Given the description of an element on the screen output the (x, y) to click on. 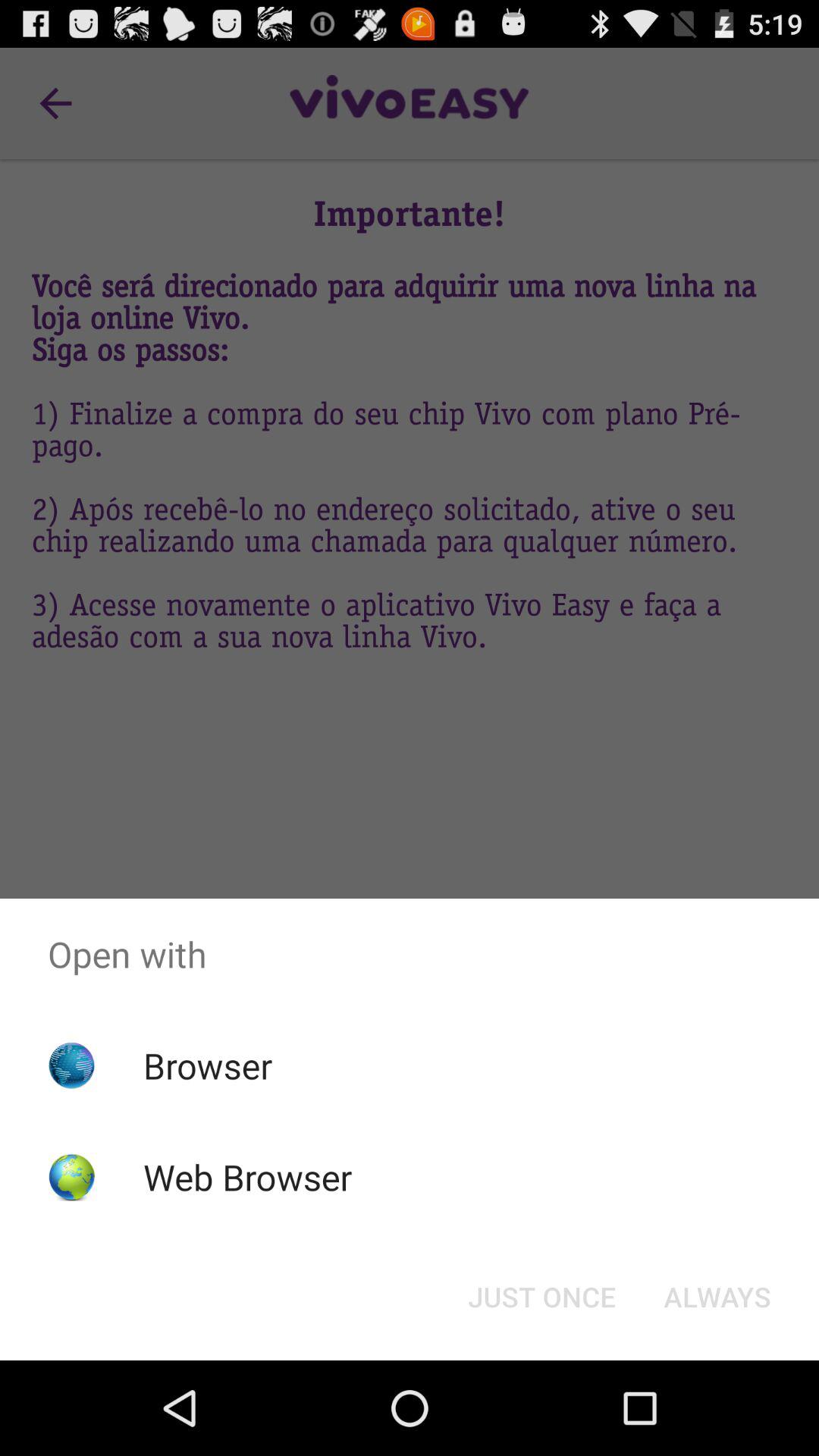
tap the icon to the left of the always item (541, 1296)
